Given the description of an element on the screen output the (x, y) to click on. 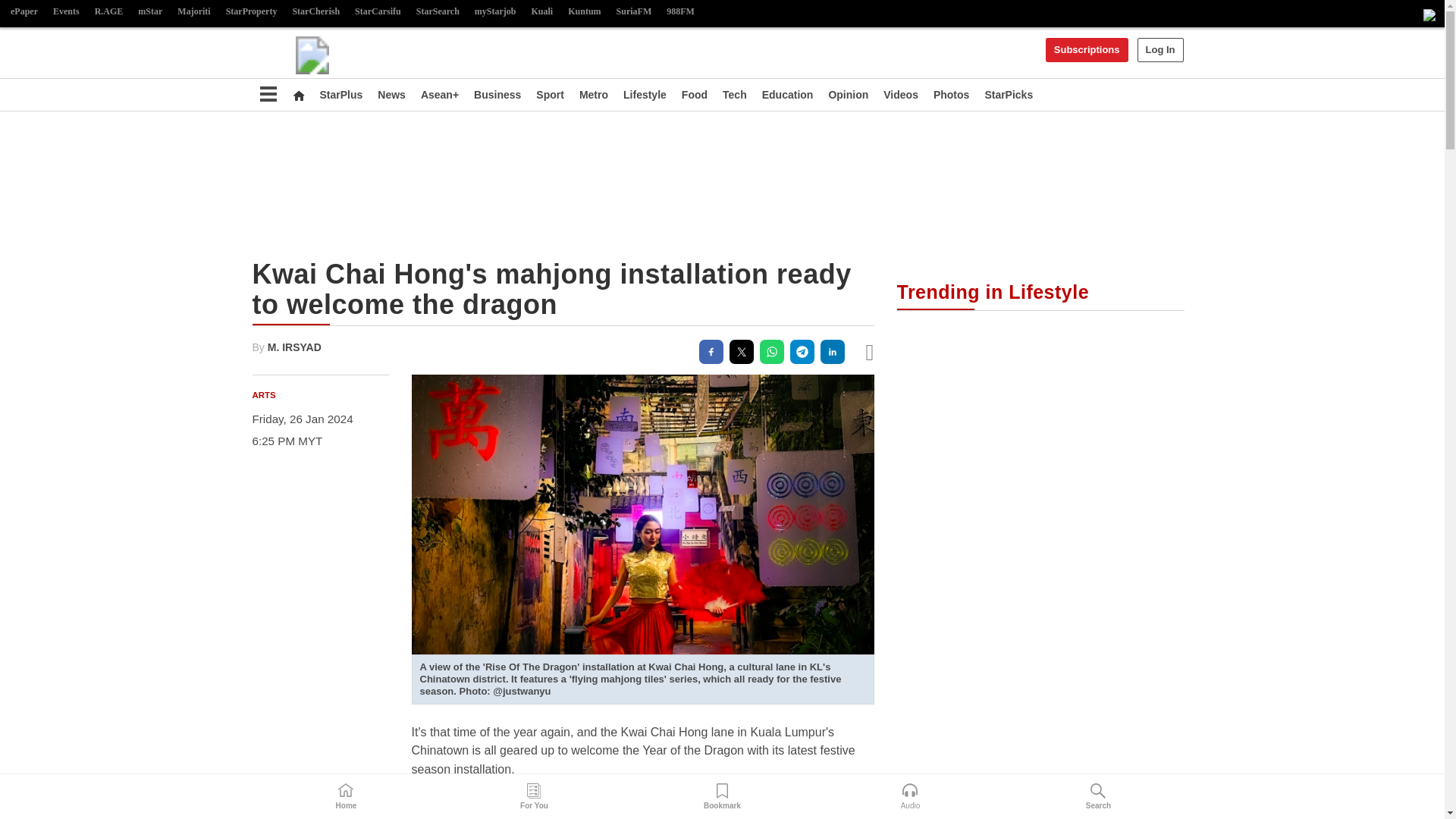
Events (66, 11)
StarCarsifu (378, 11)
Kuali (542, 11)
Majoriti (193, 11)
StarSearch (438, 11)
StarProperty (251, 11)
Subscriptions (1086, 49)
StarCherish (315, 11)
mStar (150, 11)
myStarjob (495, 11)
SuriaFM (633, 11)
988FM (680, 11)
R.AGE (109, 11)
ePaper (23, 11)
Kuntum (584, 11)
